Given the description of an element on the screen output the (x, y) to click on. 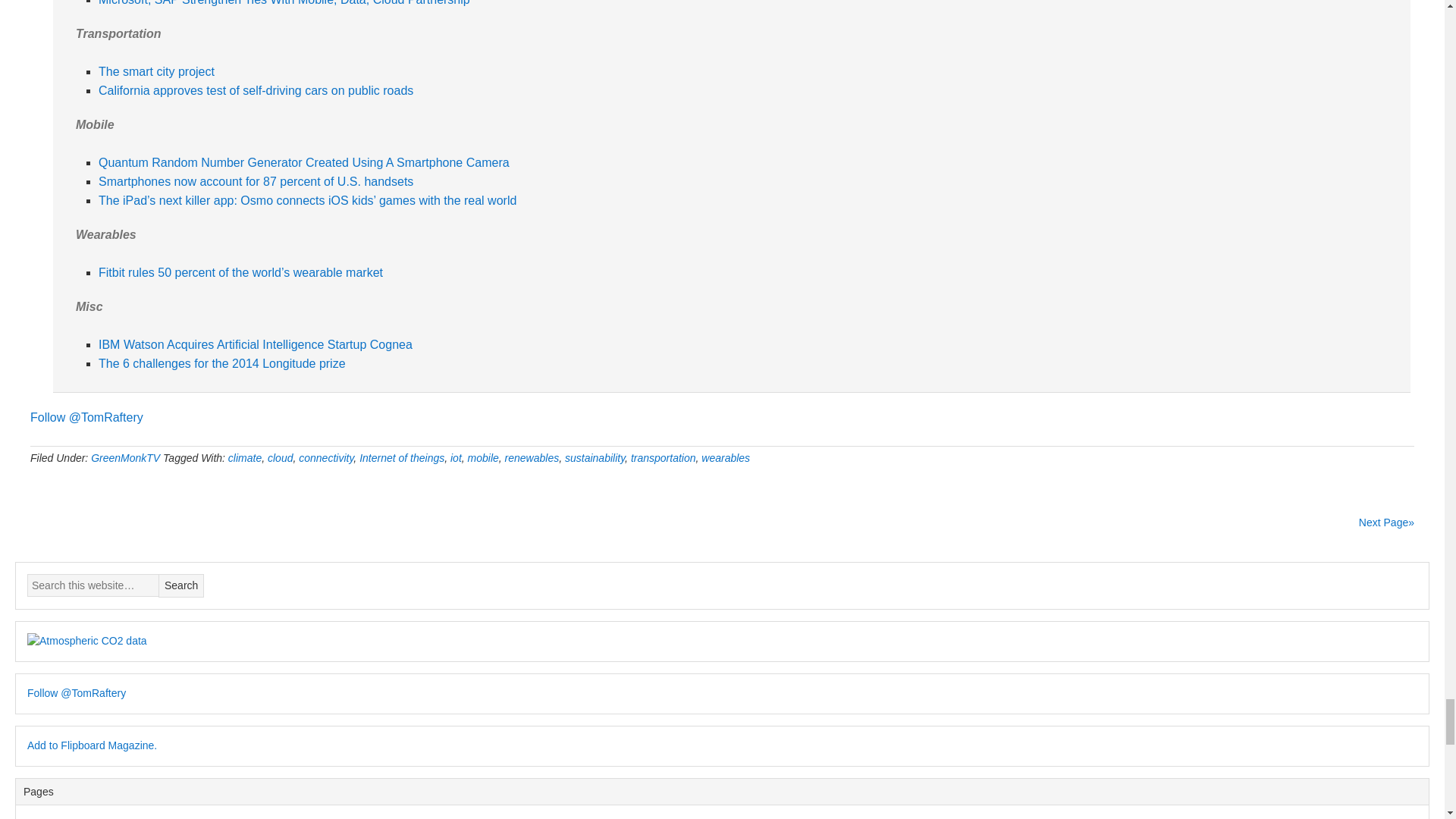
Search (180, 585)
